Given the description of an element on the screen output the (x, y) to click on. 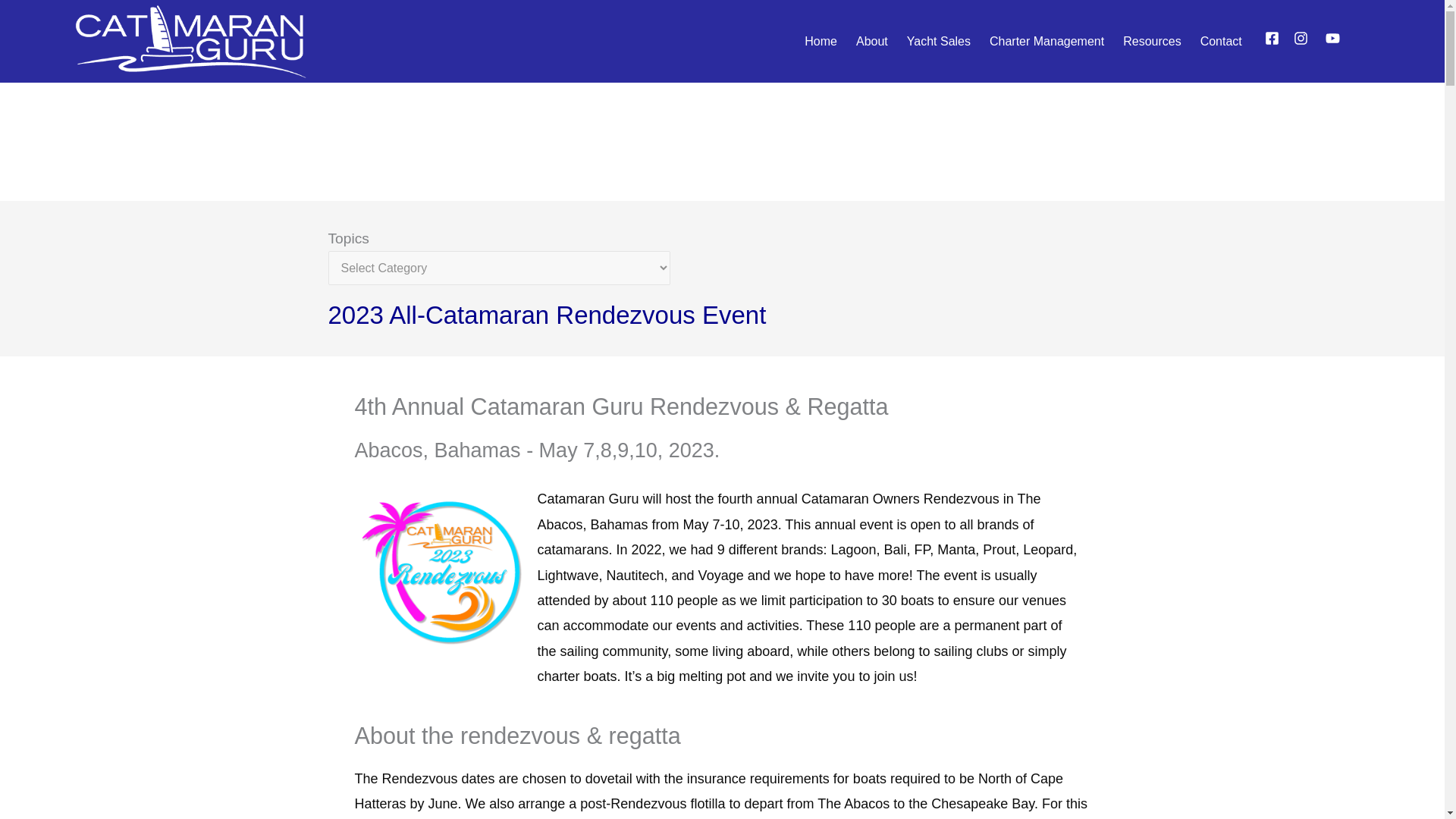
Home (820, 41)
About (871, 41)
Yacht Sales (938, 41)
Charter Management (1046, 41)
